Given the description of an element on the screen output the (x, y) to click on. 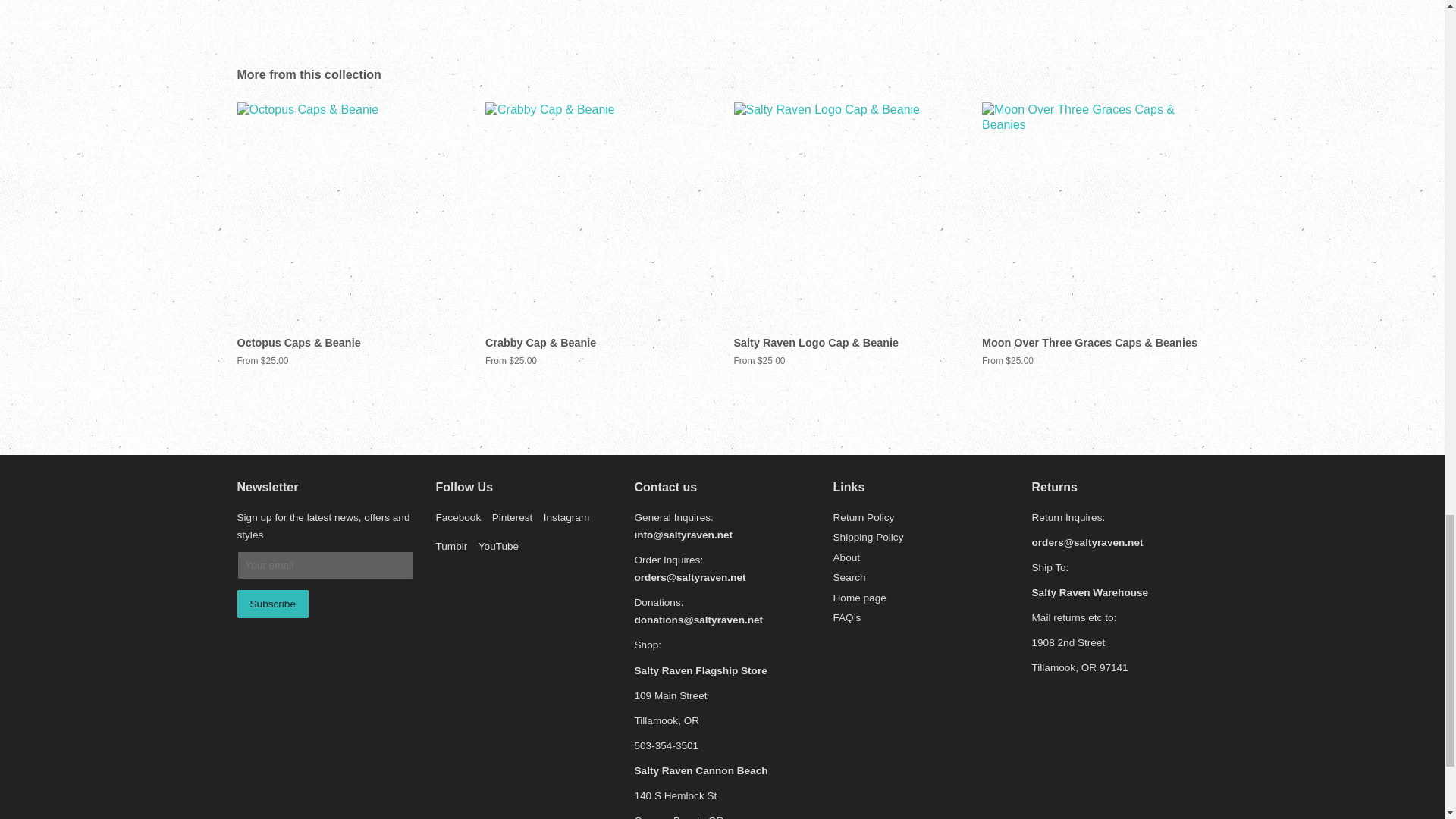
Subscribe (271, 603)
Salty Raven on Facebook (457, 517)
Salty Raven on Instagram (566, 517)
Tumblr (451, 546)
YouTube (498, 546)
Facebook (457, 517)
Subscribe (271, 603)
Instagram (566, 517)
Pinterest (512, 517)
Salty Raven on Tumblr (451, 546)
